Given the description of an element on the screen output the (x, y) to click on. 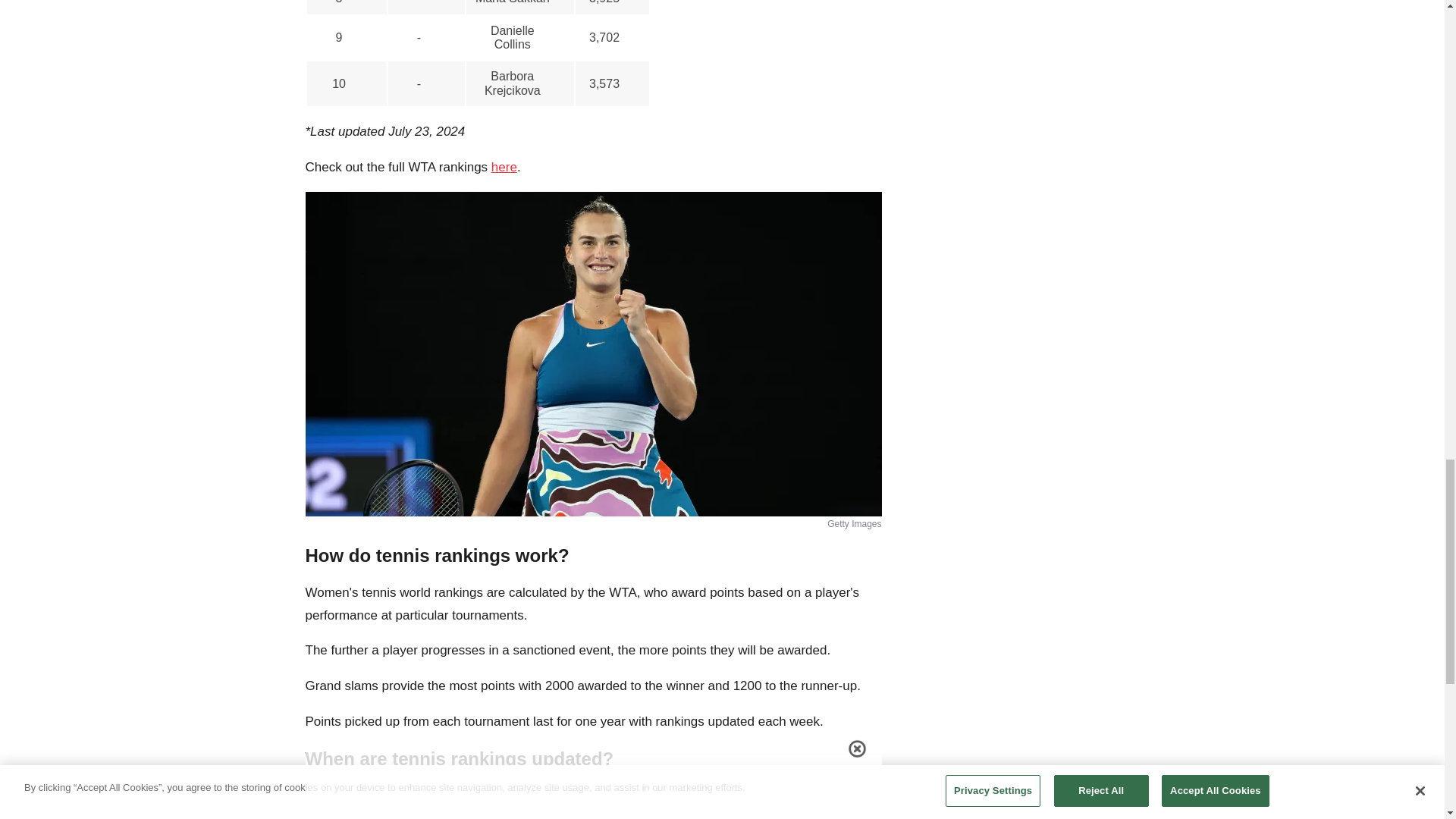
3rd party ad content (1024, 91)
